Given the description of an element on the screen output the (x, y) to click on. 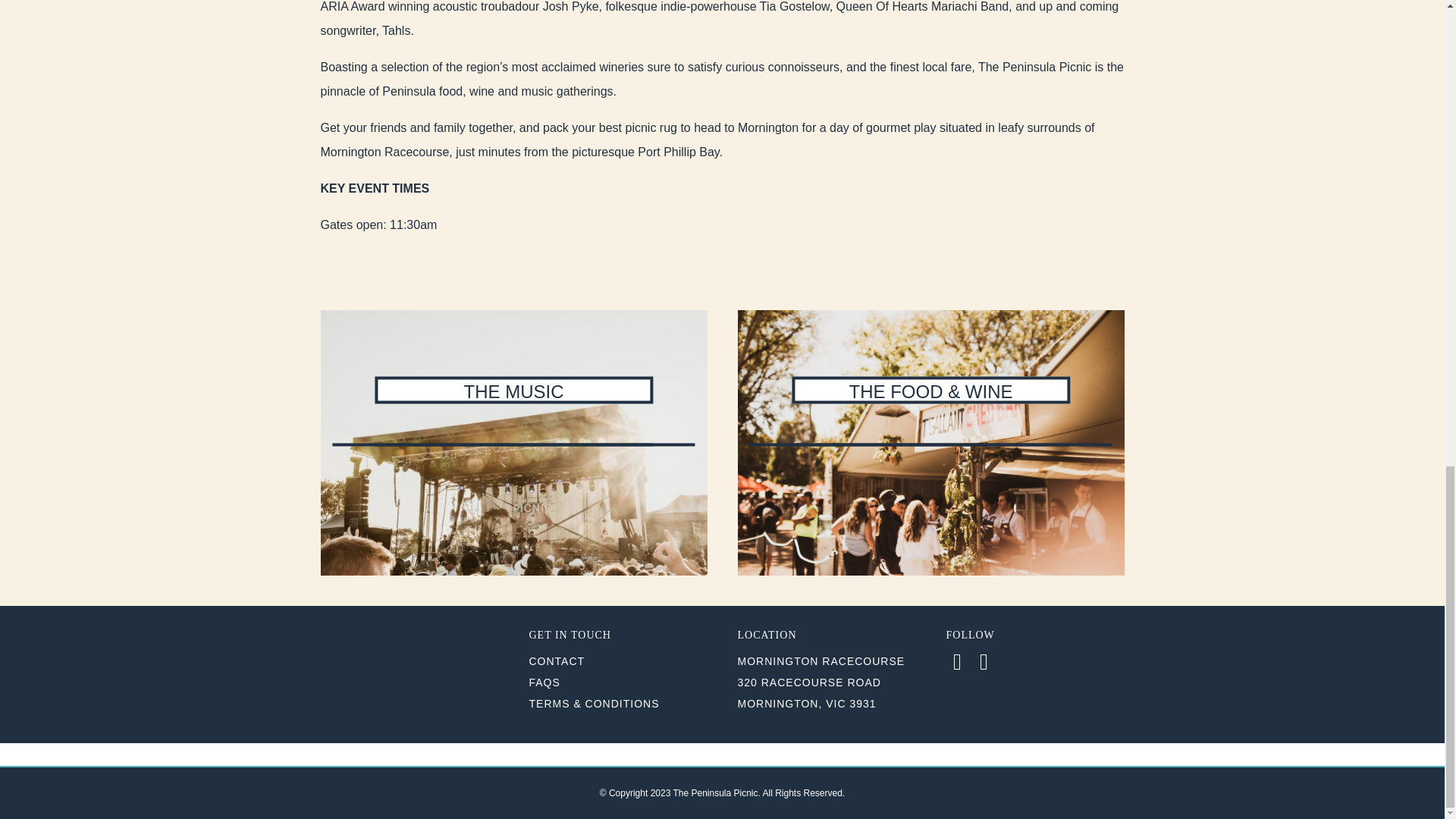
THE MUSIC (513, 442)
Facebook (957, 661)
FAQS (544, 682)
CONTACT (557, 661)
Instagram (983, 661)
